Given the description of an element on the screen output the (x, y) to click on. 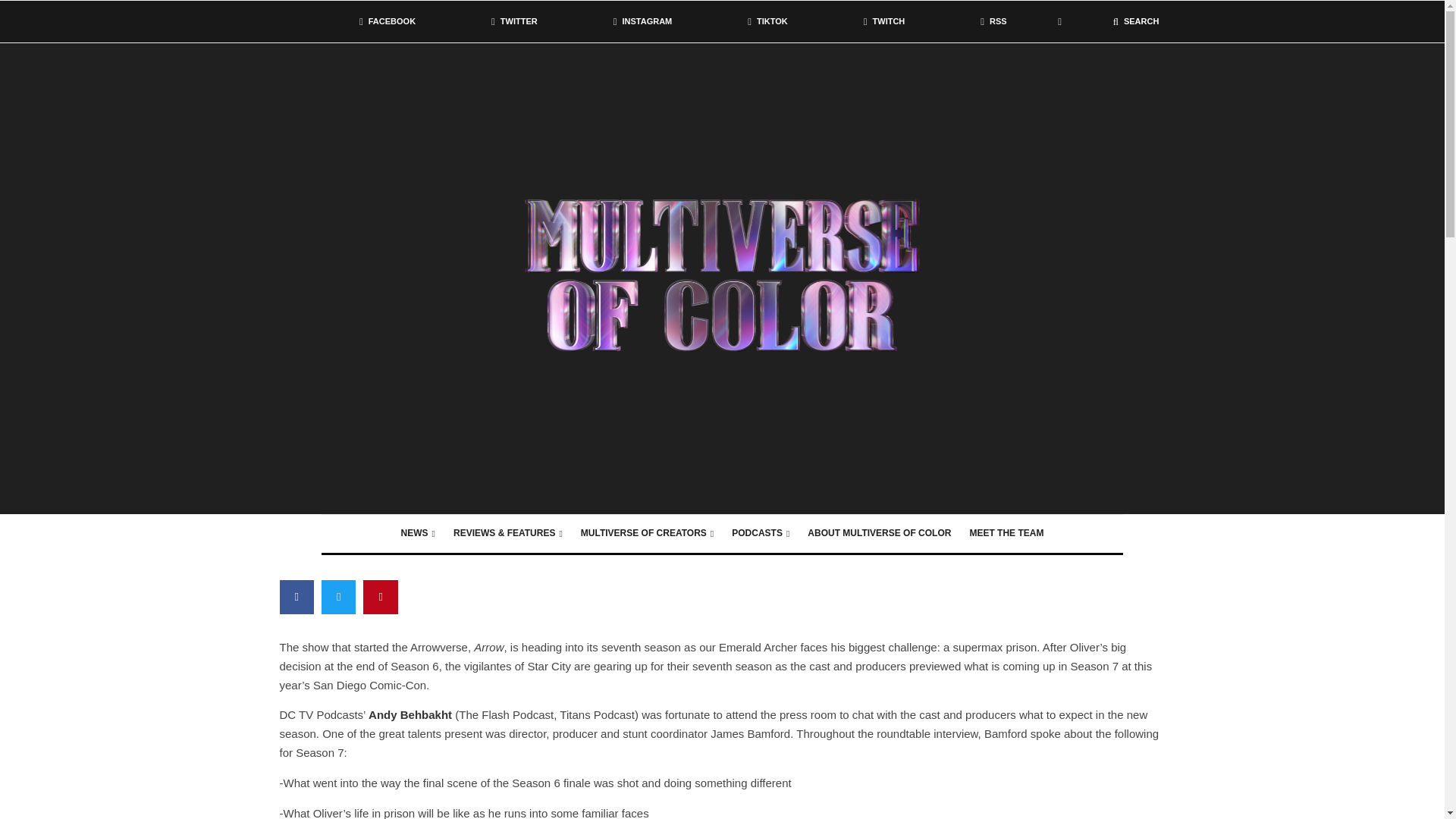
SEARCH (1135, 21)
TWITCH (884, 21)
NEWS (417, 533)
FACEBOOK (386, 21)
TWITTER (513, 21)
RSS (992, 21)
TIKTOK (767, 21)
INSTAGRAM (642, 21)
